Given the description of an element on the screen output the (x, y) to click on. 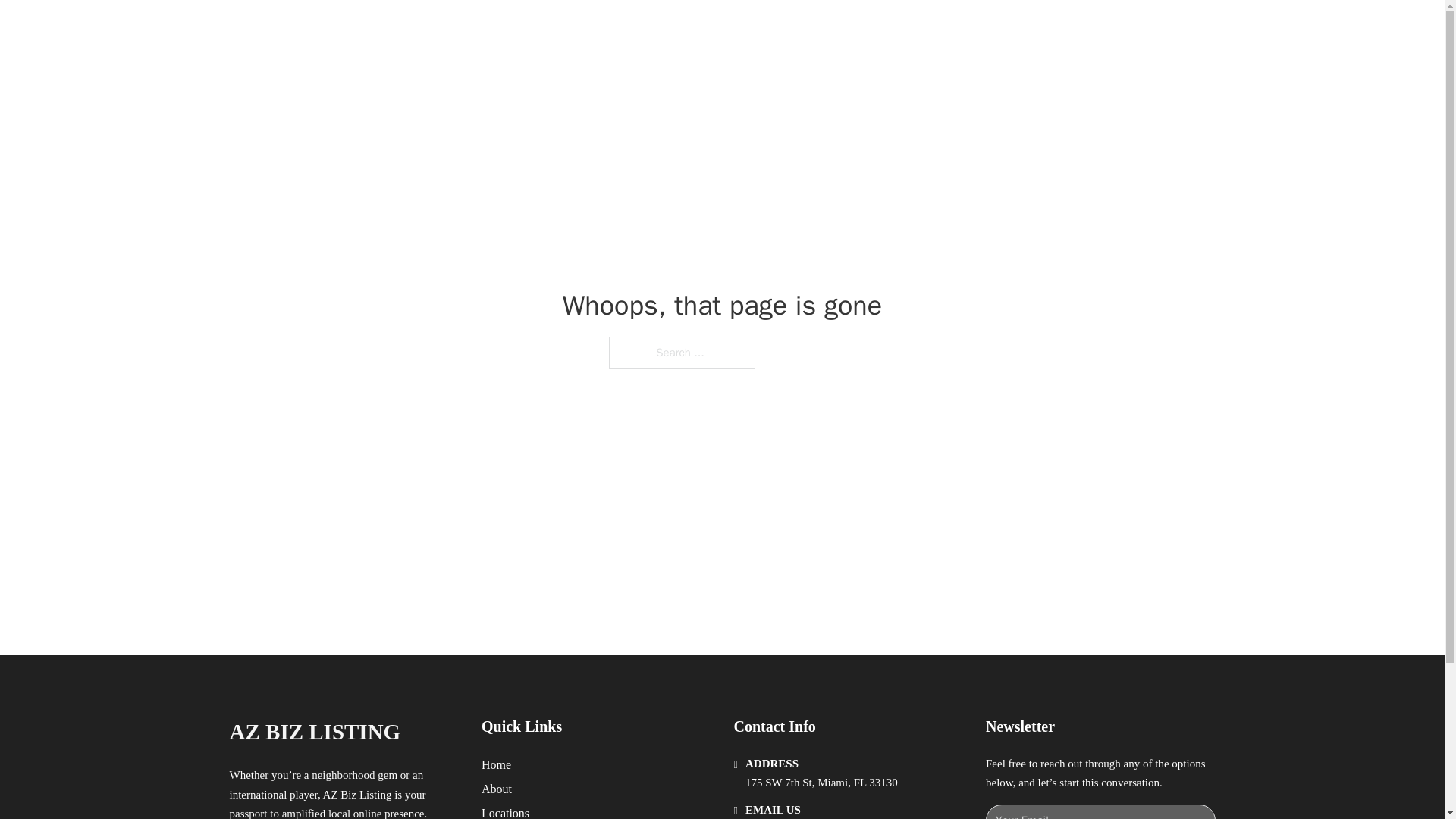
AZ BIZ LISTING (314, 732)
HOME (919, 29)
Locations (505, 811)
AZ BIZ LISTING (387, 28)
About (496, 788)
LOCATIONS (990, 29)
Home (496, 764)
